Given the description of an element on the screen output the (x, y) to click on. 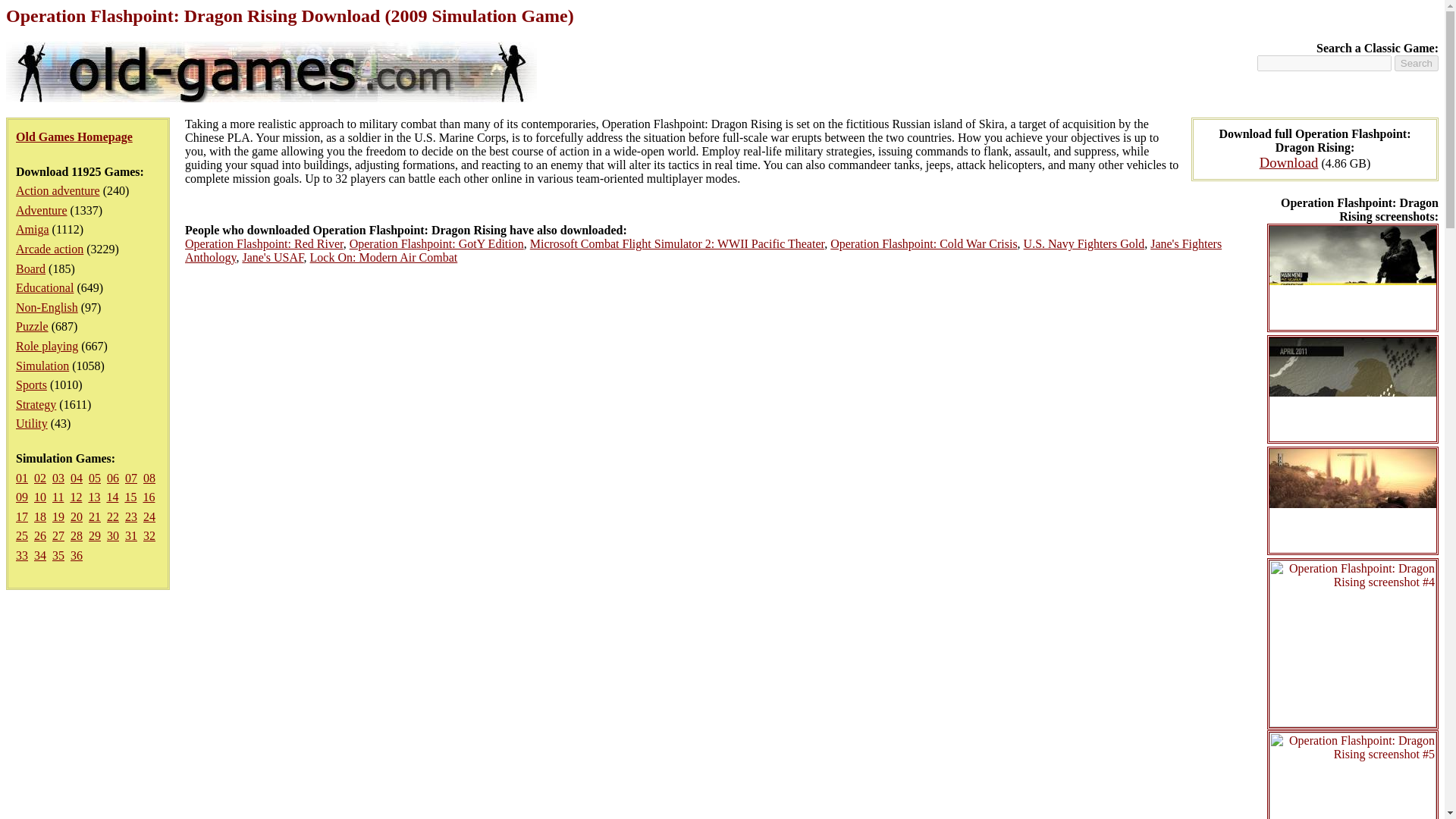
Sports (31, 384)
Puzzle (32, 326)
04 (75, 477)
01 (21, 477)
16 (148, 496)
20 (75, 516)
Simulation (42, 365)
17 (21, 516)
Search (1416, 63)
19 (58, 516)
